Given the description of an element on the screen output the (x, y) to click on. 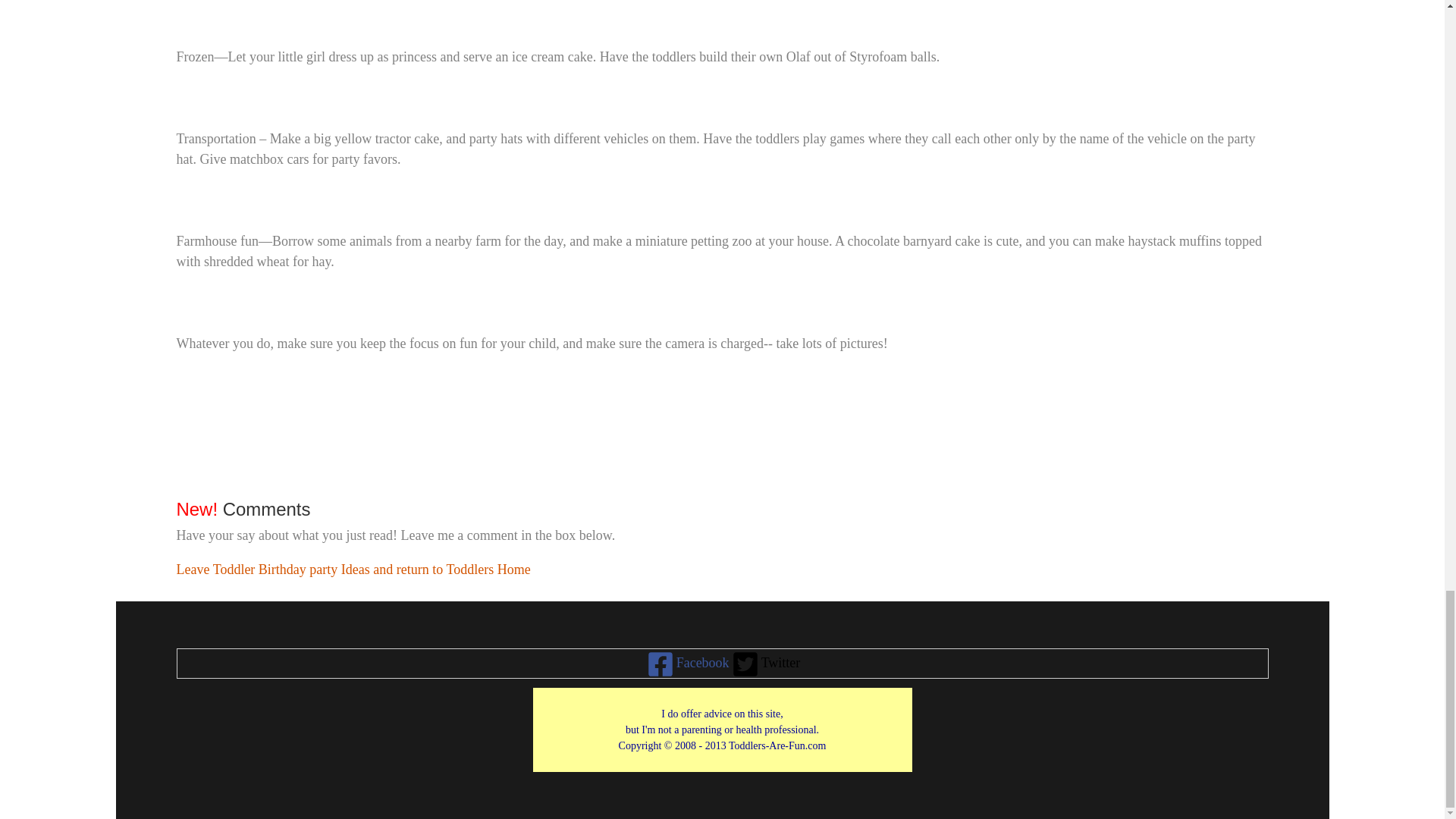
Facebook (687, 663)
Twitter (764, 663)
work at home (722, 729)
